Given the description of an element on the screen output the (x, y) to click on. 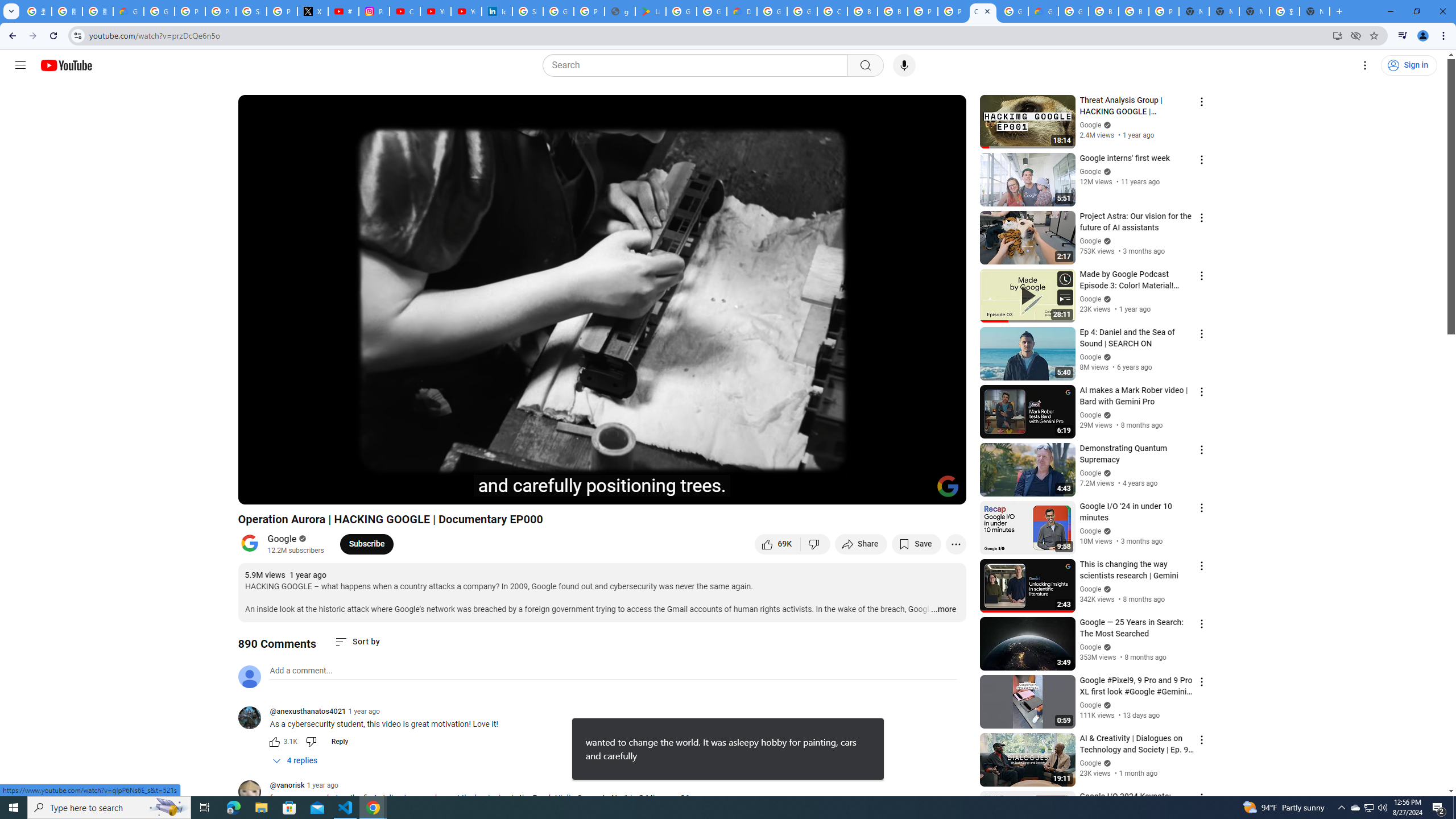
4 replies (295, 761)
Google Cloud Platform (771, 11)
...more (943, 609)
Install YouTube (1336, 35)
#nbabasketballhighlights - YouTube (343, 11)
Subtitles/closed captions unavailable (836, 490)
like this video along with 69,581 other people (777, 543)
